Given the description of an element on the screen output the (x, y) to click on. 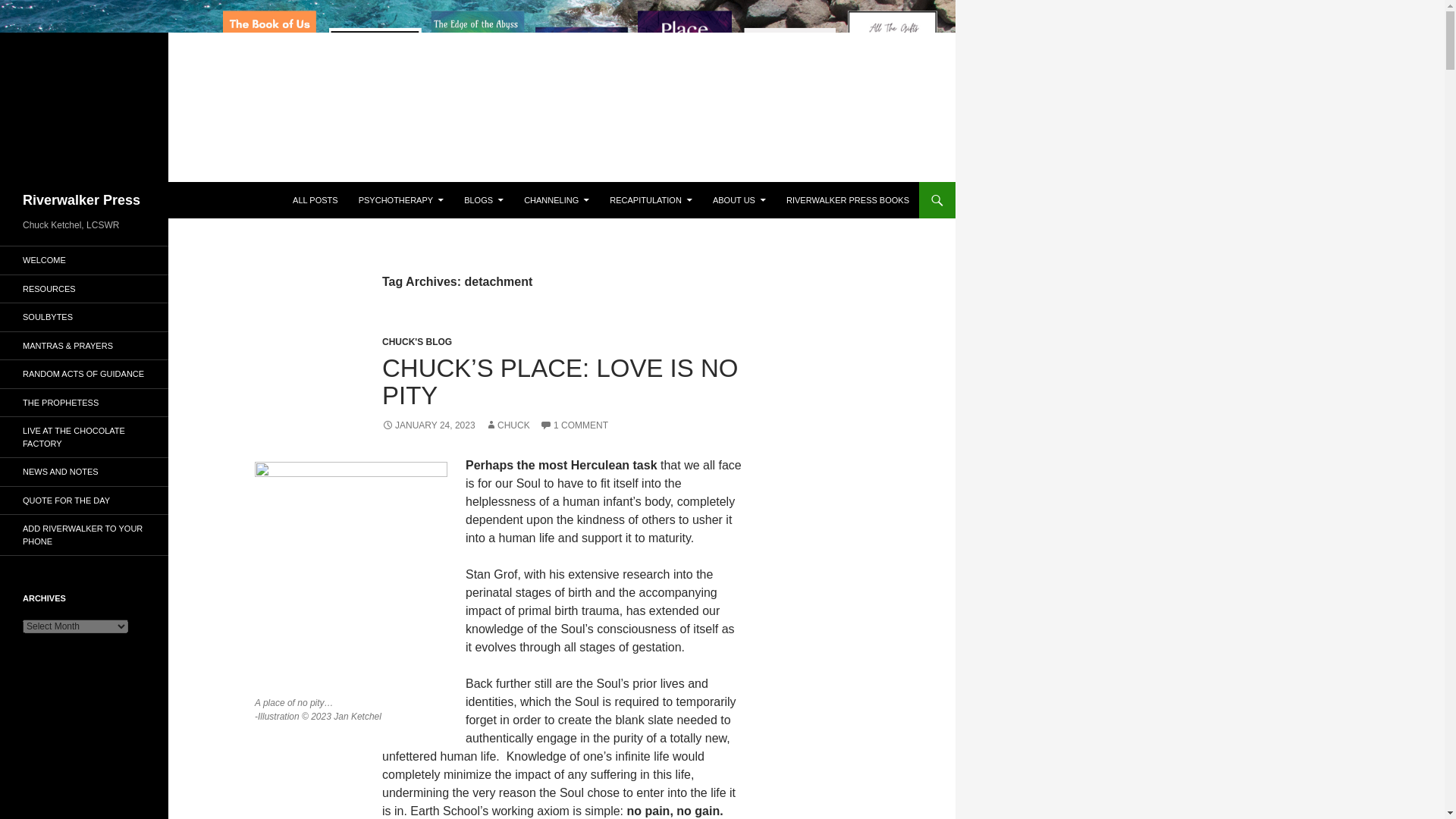
1 COMMENT (574, 425)
JANUARY 24, 2023 (428, 425)
BLOGS (483, 199)
PSYCHOTHERAPY (400, 199)
All Posts (315, 199)
ALL POSTS (315, 199)
ABOUT US (738, 199)
Riverwalker Press (81, 199)
RECAPITULATION (650, 199)
CHUCK (506, 425)
